Given the description of an element on the screen output the (x, y) to click on. 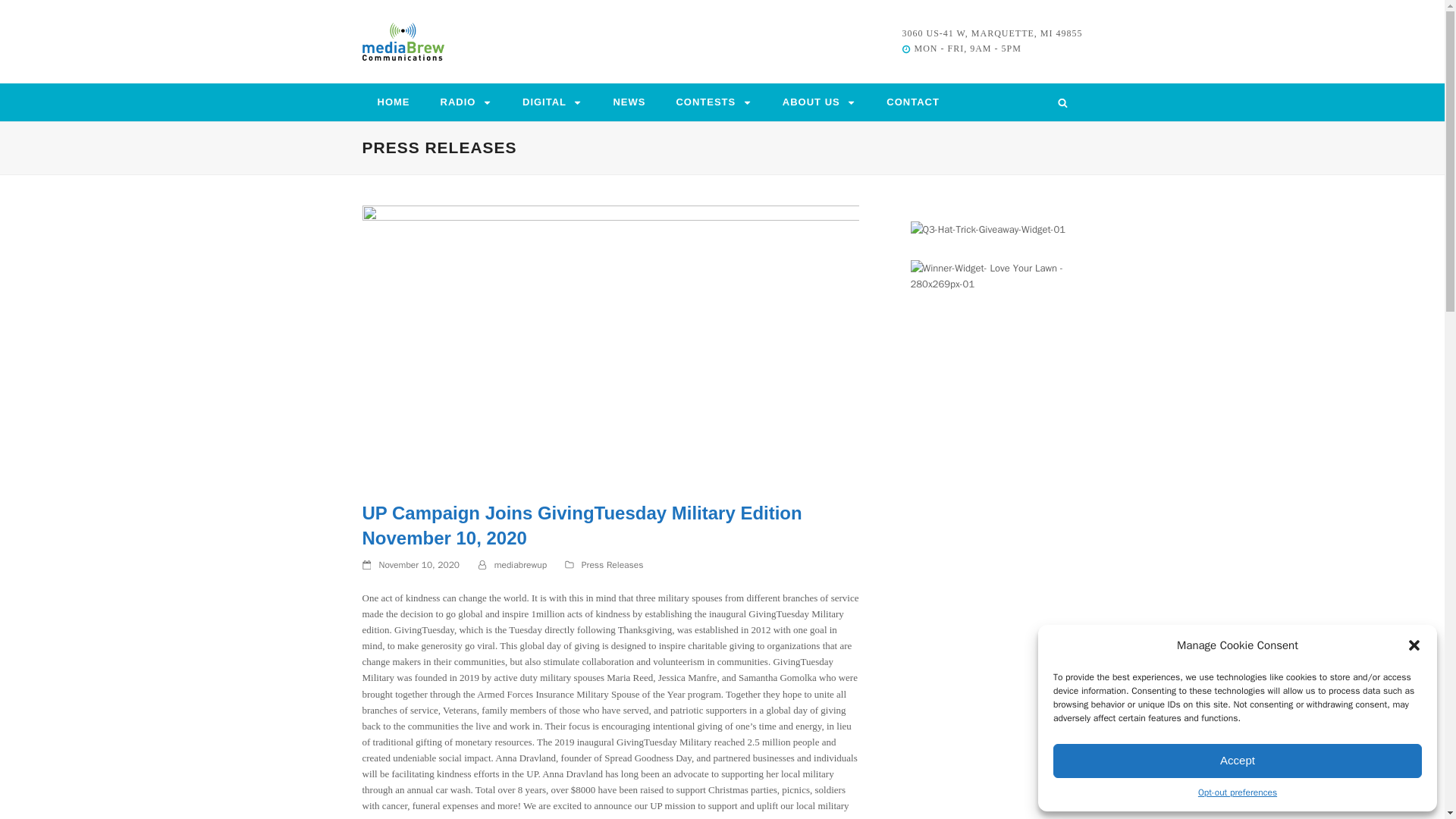
RADIO (465, 102)
HOME (393, 102)
NEWS (628, 102)
DIGITAL (551, 102)
CONTESTS (714, 102)
ABOUT US (819, 102)
Opt-out preferences (1237, 792)
Accept (1237, 759)
Posts by mediabrewup (521, 564)
